Given the description of an element on the screen output the (x, y) to click on. 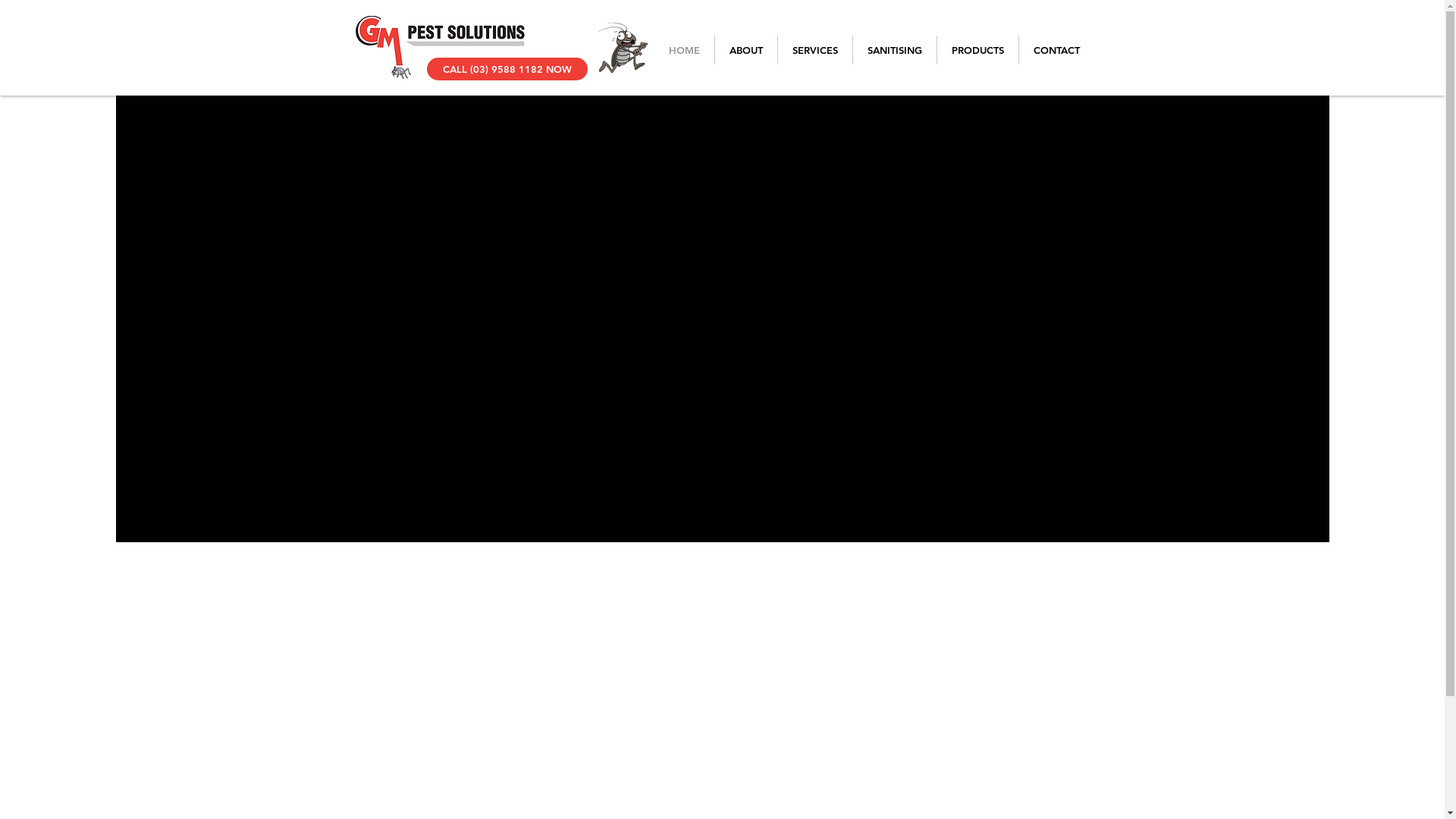
PRODUCTS Element type: text (977, 49)
SERVICES Element type: text (815, 49)
ABOUT Element type: text (745, 49)
SANITISING Element type: text (893, 49)
HOME Element type: text (683, 49)
CALL (03) 9588 1182 NOW Element type: text (506, 68)
CONTACT Element type: text (1056, 49)
